Given the description of an element on the screen output the (x, y) to click on. 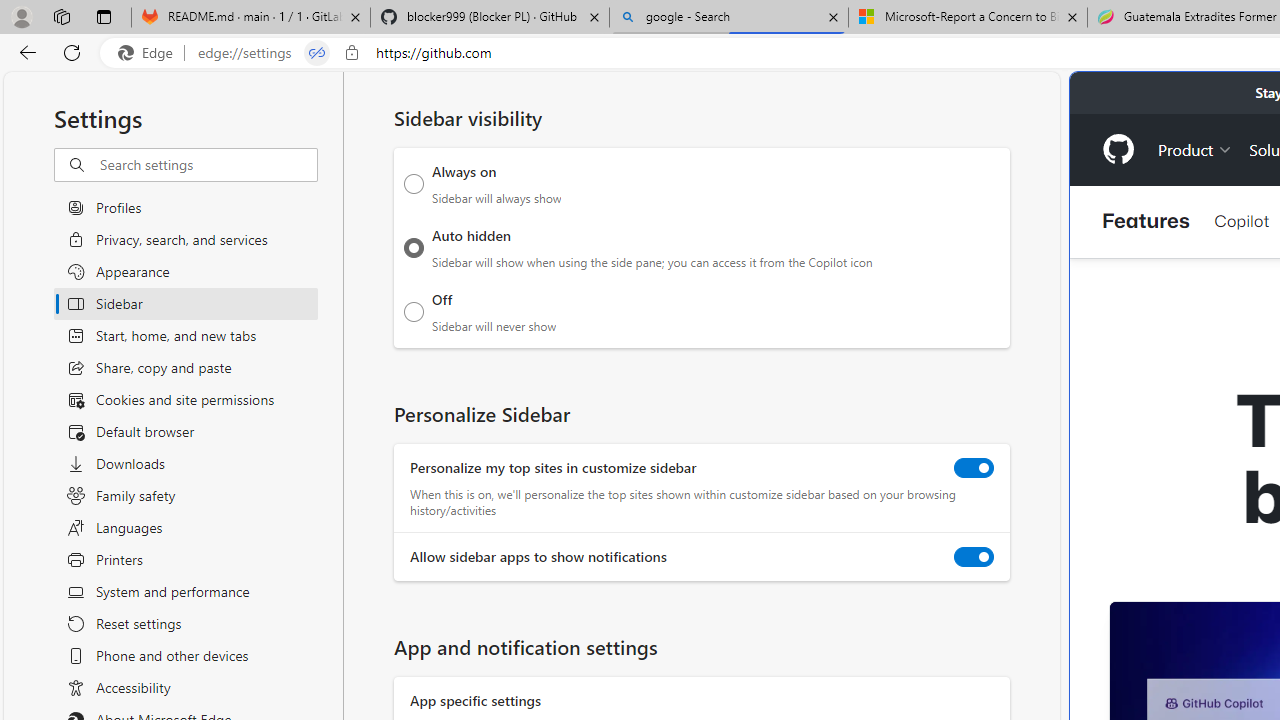
Always on Sidebar will always show (413, 183)
Edge (150, 53)
Tabs in split screen (317, 53)
Off Sidebar will never show (413, 311)
